Given the description of an element on the screen output the (x, y) to click on. 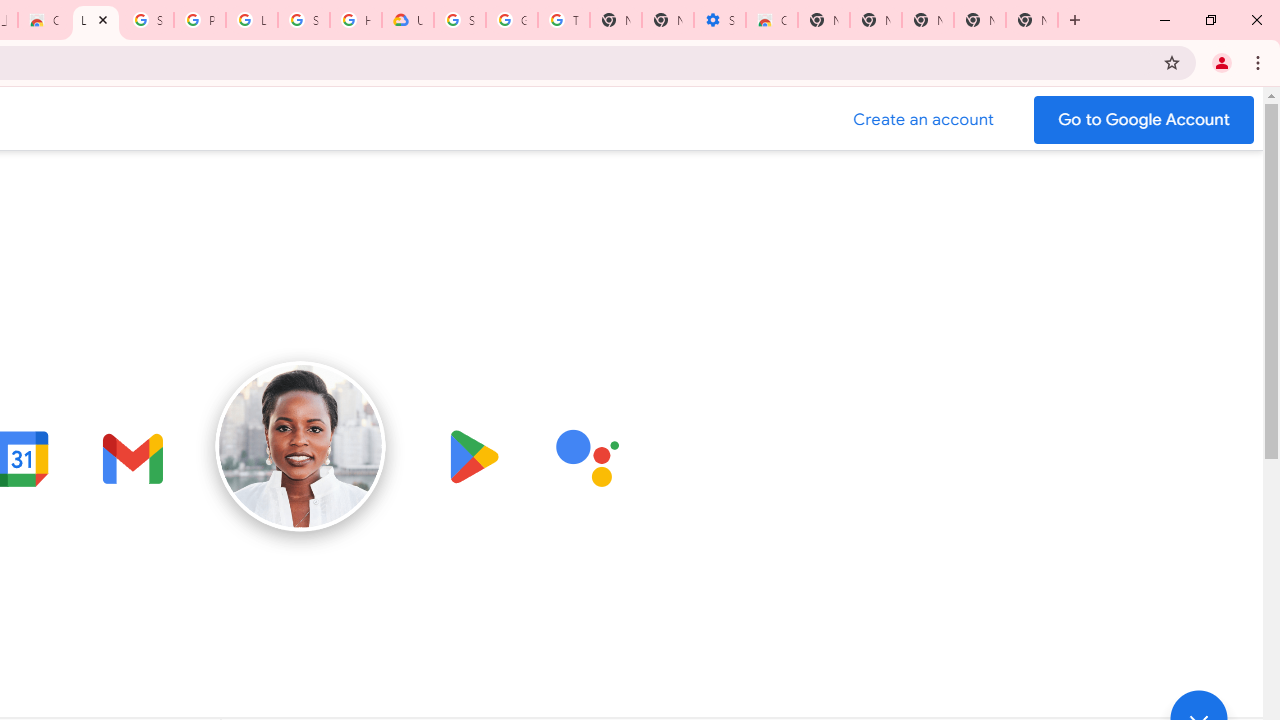
Google Account Help (511, 20)
Turn cookies on or off - Computer - Google Account Help (563, 20)
Create a Google Account (923, 119)
Settings - Accessibility (719, 20)
Chrome Web Store - Household (43, 20)
Restore (1210, 20)
